Given the description of an element on the screen output the (x, y) to click on. 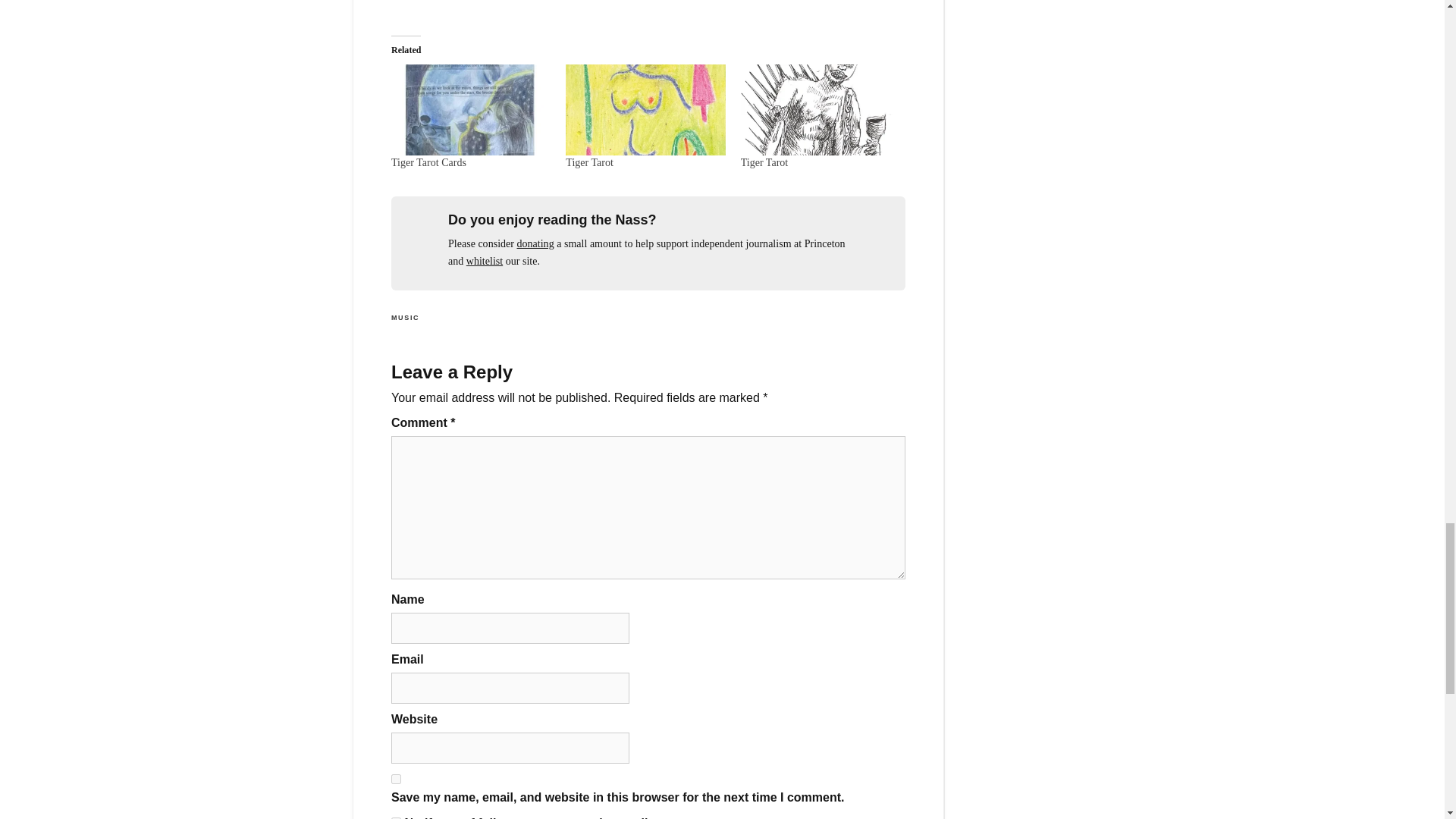
Tiger Tarot (765, 162)
Tiger Tarot (589, 162)
Tiger Tarot Cards (428, 162)
Tiger Tarot (589, 162)
Tiger Tarot Cards (470, 109)
Tiger Tarot Cards (428, 162)
yes (396, 778)
donating (535, 243)
MUSIC (405, 317)
whitelist (483, 260)
Tiger Tarot (820, 109)
Tiger Tarot (765, 162)
Tiger Tarot (645, 109)
